Given the description of an element on the screen output the (x, y) to click on. 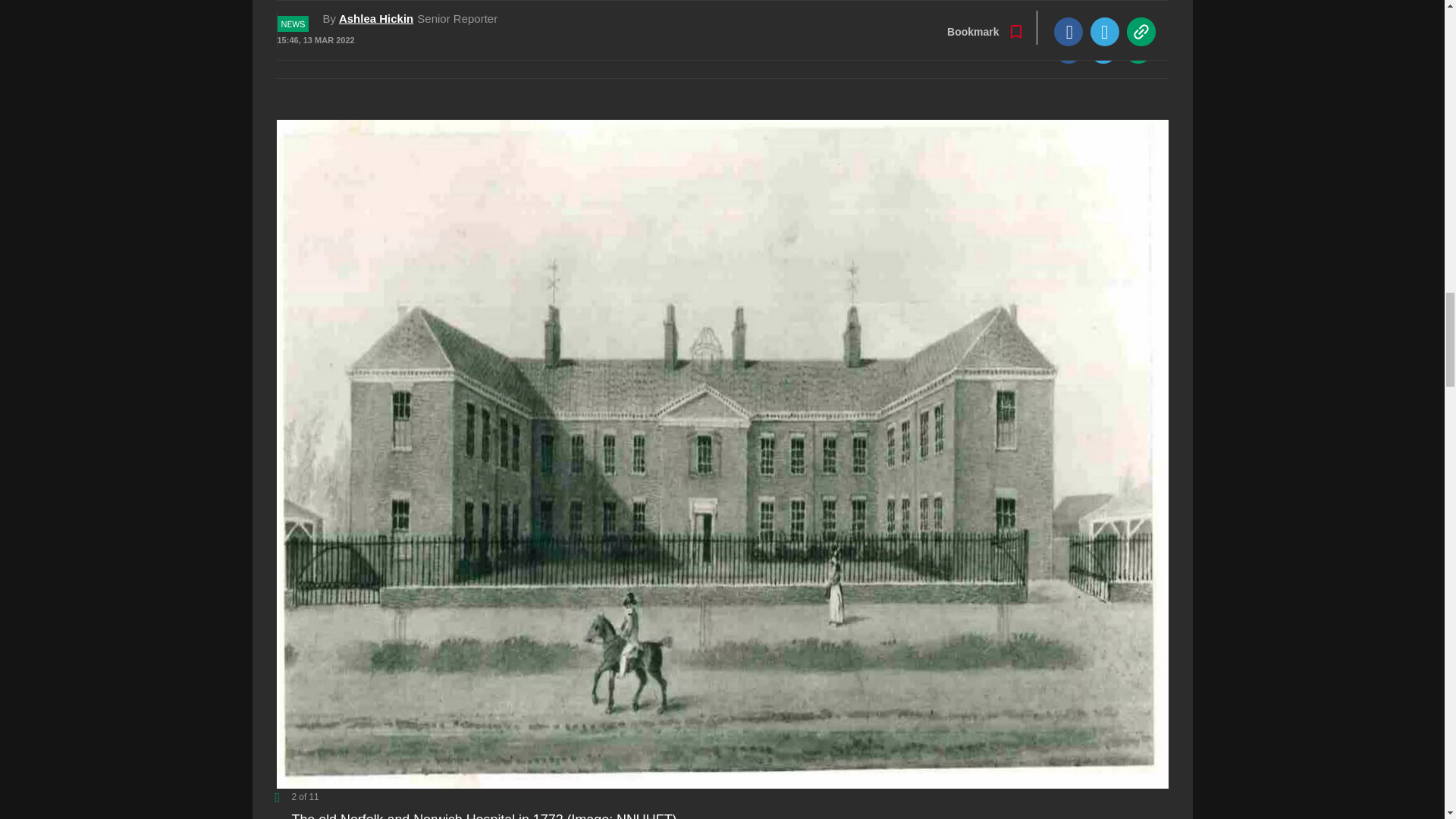
Facebook (1067, 49)
Twitter (1102, 49)
